Given the description of an element on the screen output the (x, y) to click on. 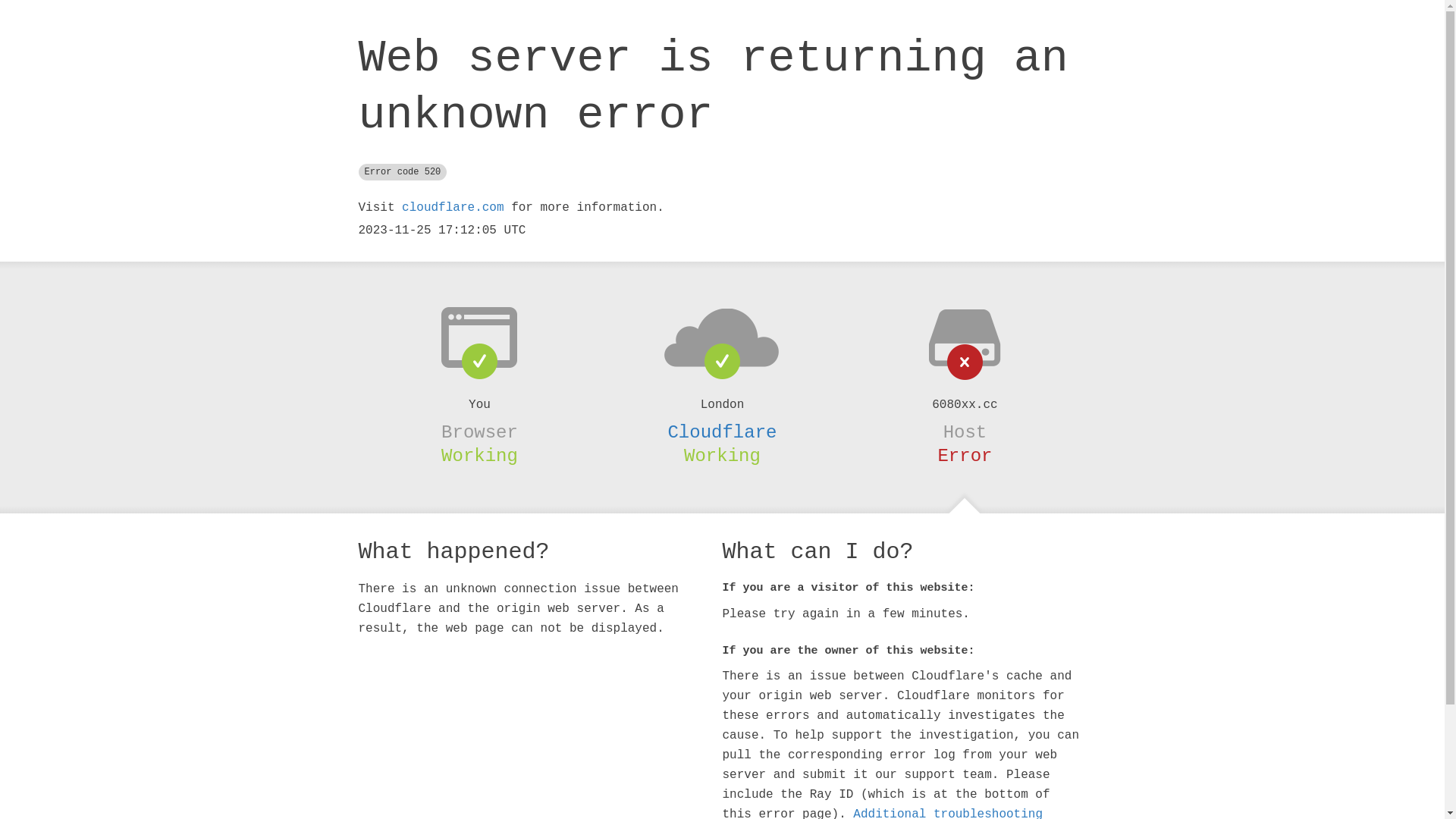
Cloudflare Element type: text (721, 432)
cloudflare.com Element type: text (452, 207)
